Given the description of an element on the screen output the (x, y) to click on. 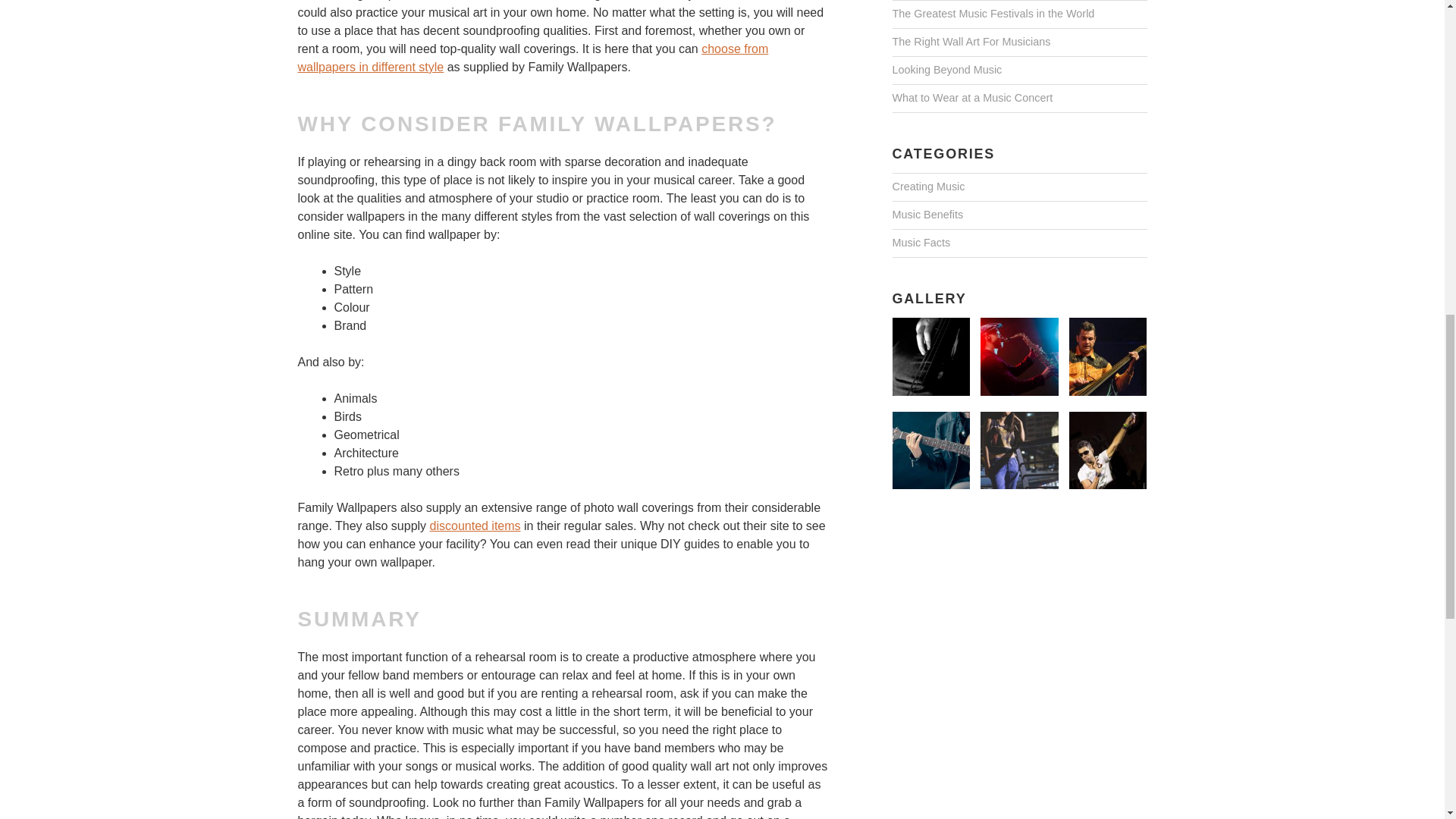
Music Facts (920, 243)
Creating Music (927, 187)
The Right Wall Art For Musicians (970, 42)
The Greatest Music Festivals in the World (992, 14)
Music Benefits (926, 214)
choose from wallpapers in different style (532, 58)
Looking Beyond Music (946, 69)
discounted items (475, 526)
What to Wear at a Music Concert (971, 98)
